Given the description of an element on the screen output the (x, y) to click on. 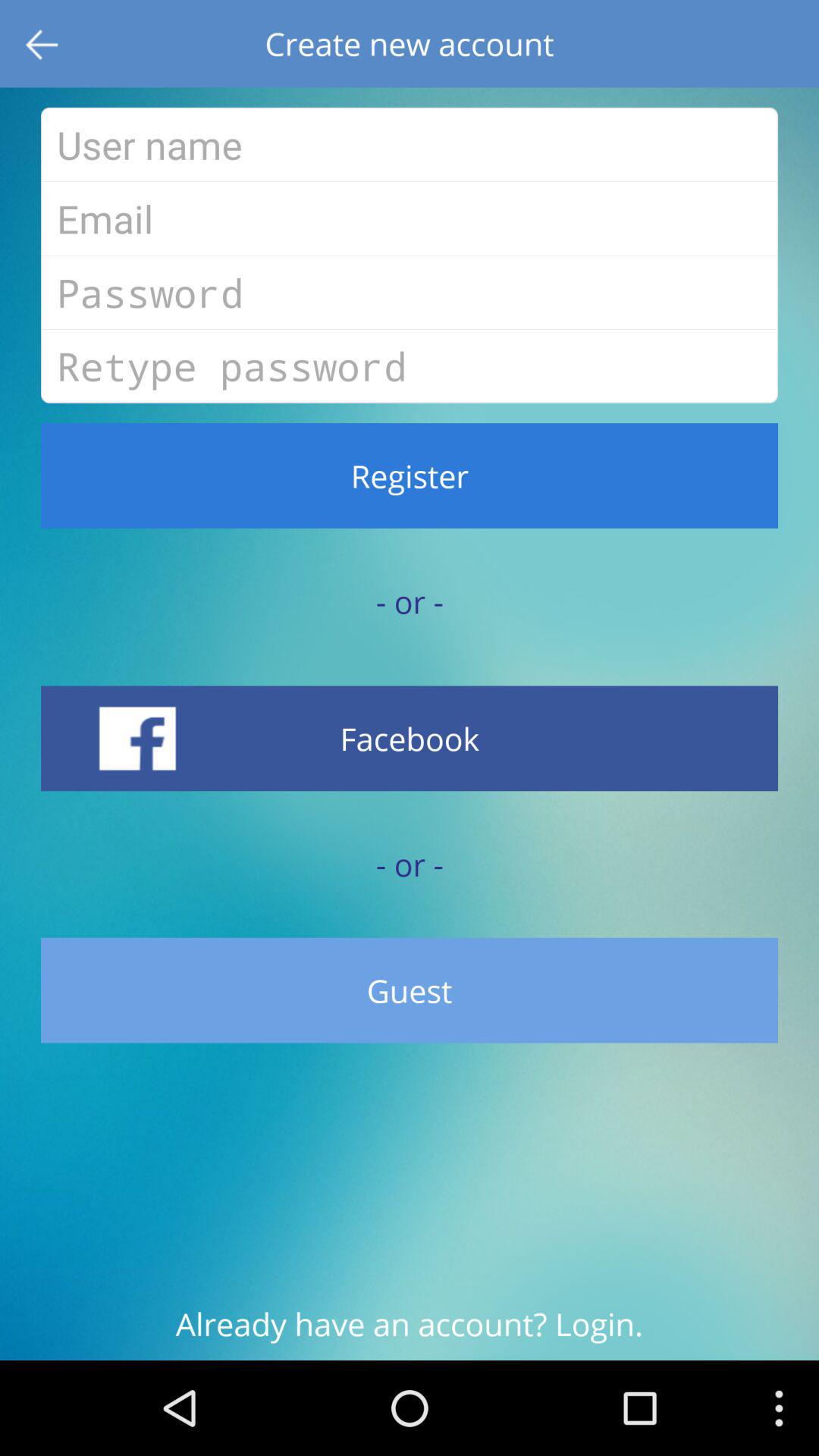
open already have an icon (409, 1331)
